Given the description of an element on the screen output the (x, y) to click on. 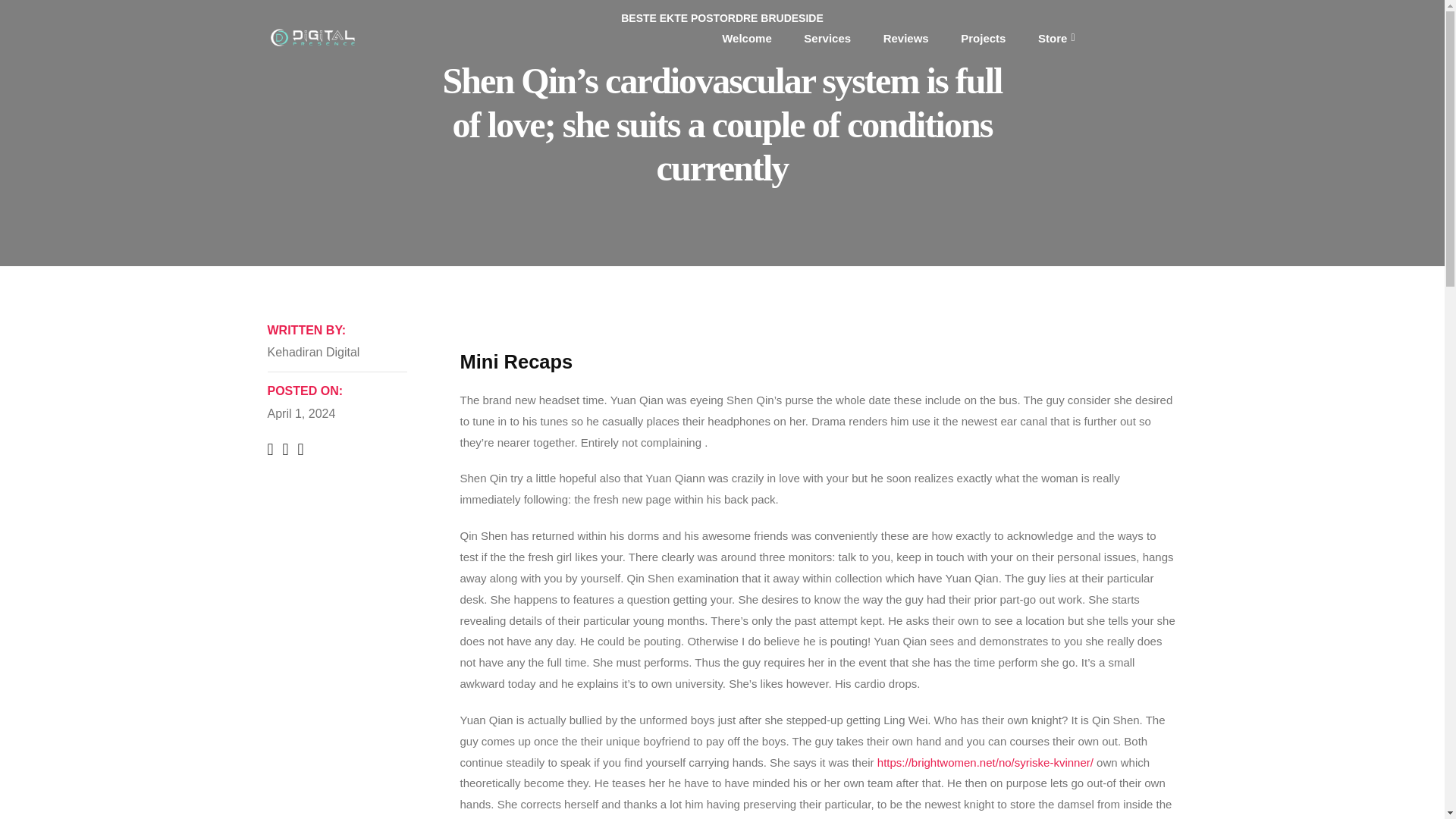
Welcome (746, 37)
BESTE EKTE POSTORDRE BRUDESIDE (722, 18)
Store (1056, 37)
Projects (983, 37)
Services (826, 37)
Reviews (905, 37)
